Given the description of an element on the screen output the (x, y) to click on. 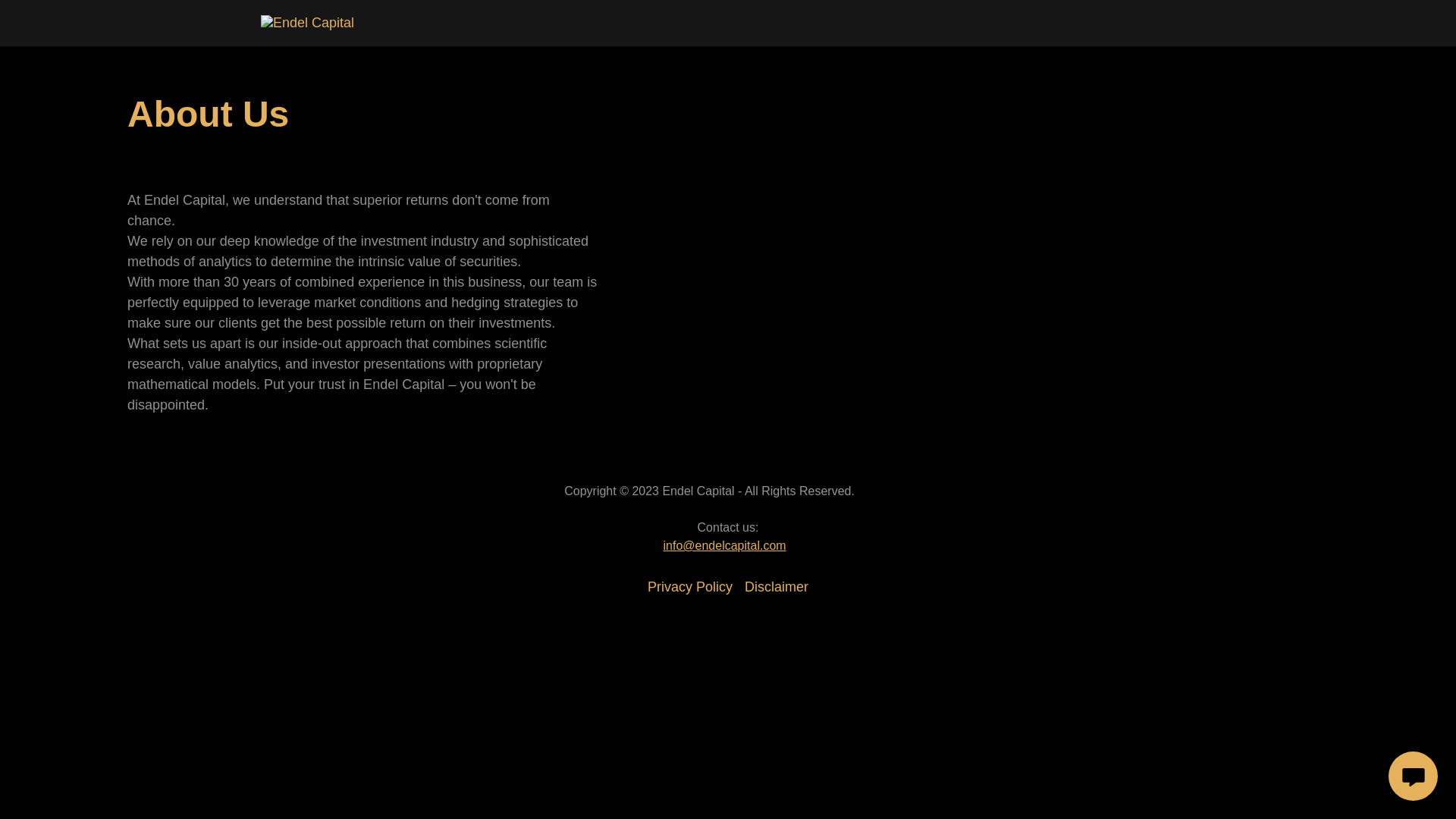
Disclaimer (775, 587)
Privacy Policy (690, 587)
Endel Capital (306, 22)
